Given the description of an element on the screen output the (x, y) to click on. 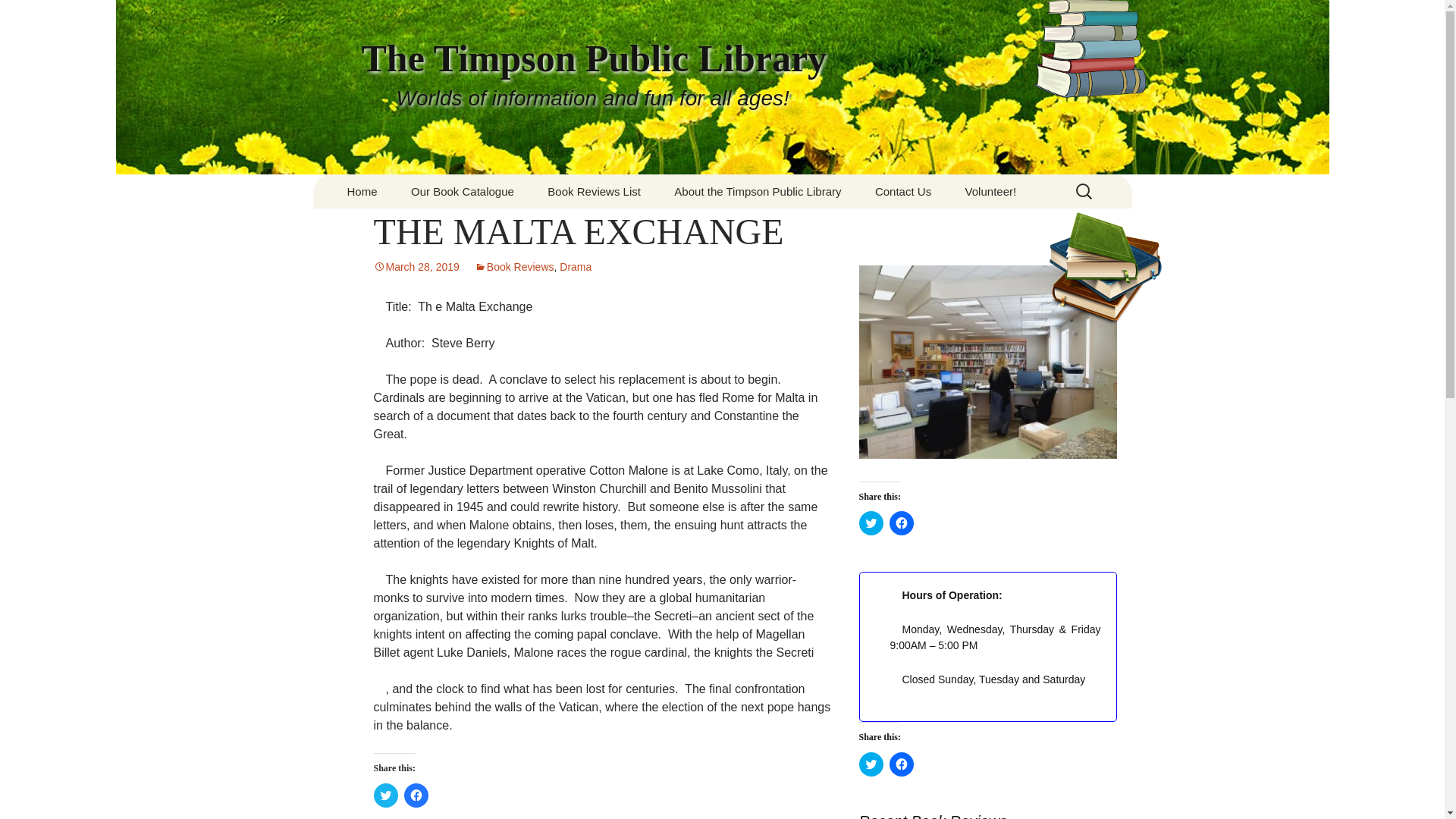
Click to share on Facebook (900, 523)
Click to share on Twitter (384, 794)
Contact Us (903, 191)
Search (18, 15)
About the Timpson Public Library (757, 191)
Book Reviews (514, 266)
Our Book Catalogue (462, 191)
Permalink to THE MALTA EXCHANGE (415, 266)
Click to share on Twitter (870, 764)
Volunteer! (991, 191)
Click to share on Twitter (870, 523)
